Given the description of an element on the screen output the (x, y) to click on. 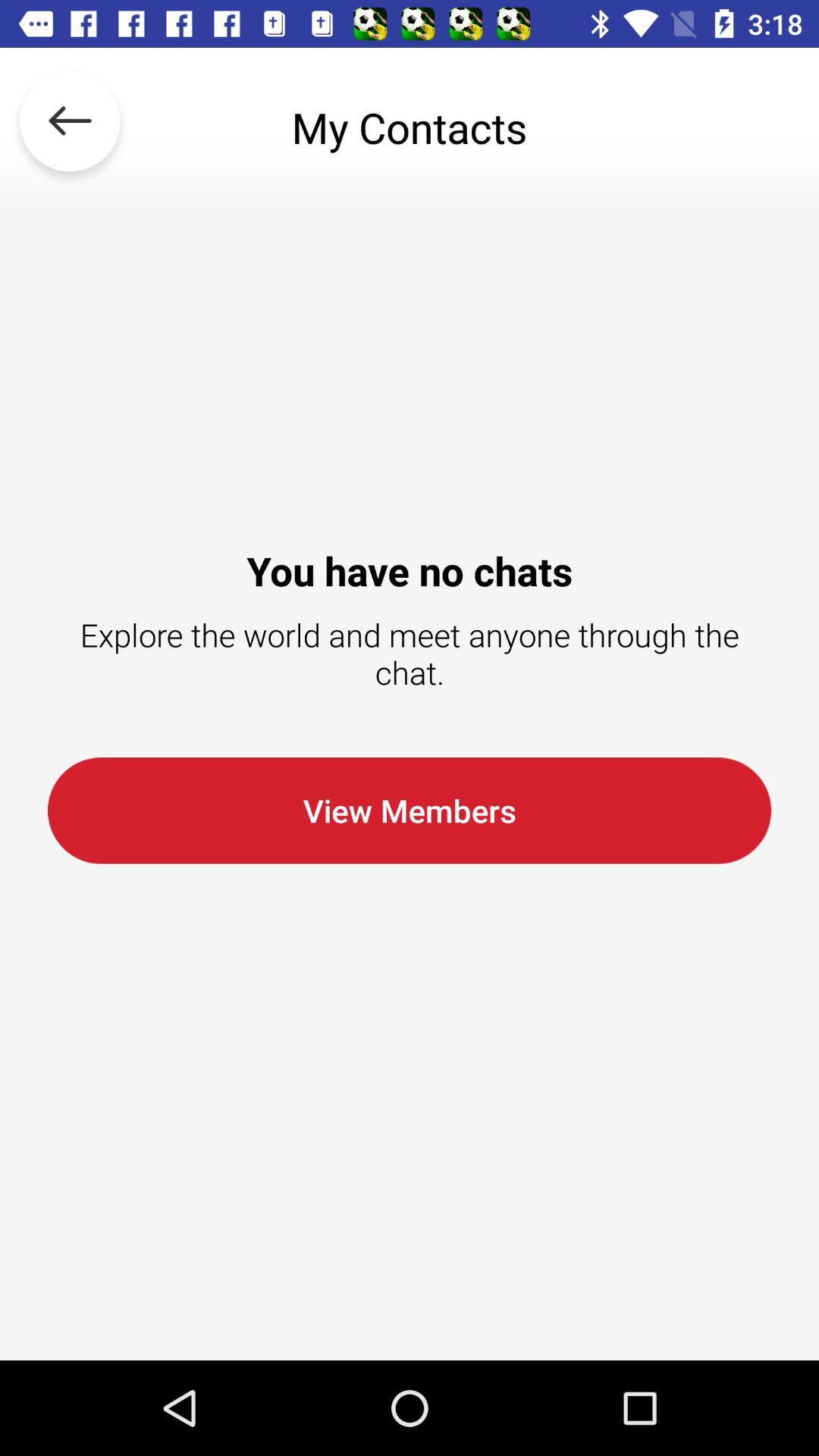
turn off the item above the you have no icon (69, 127)
